Given the description of an element on the screen output the (x, y) to click on. 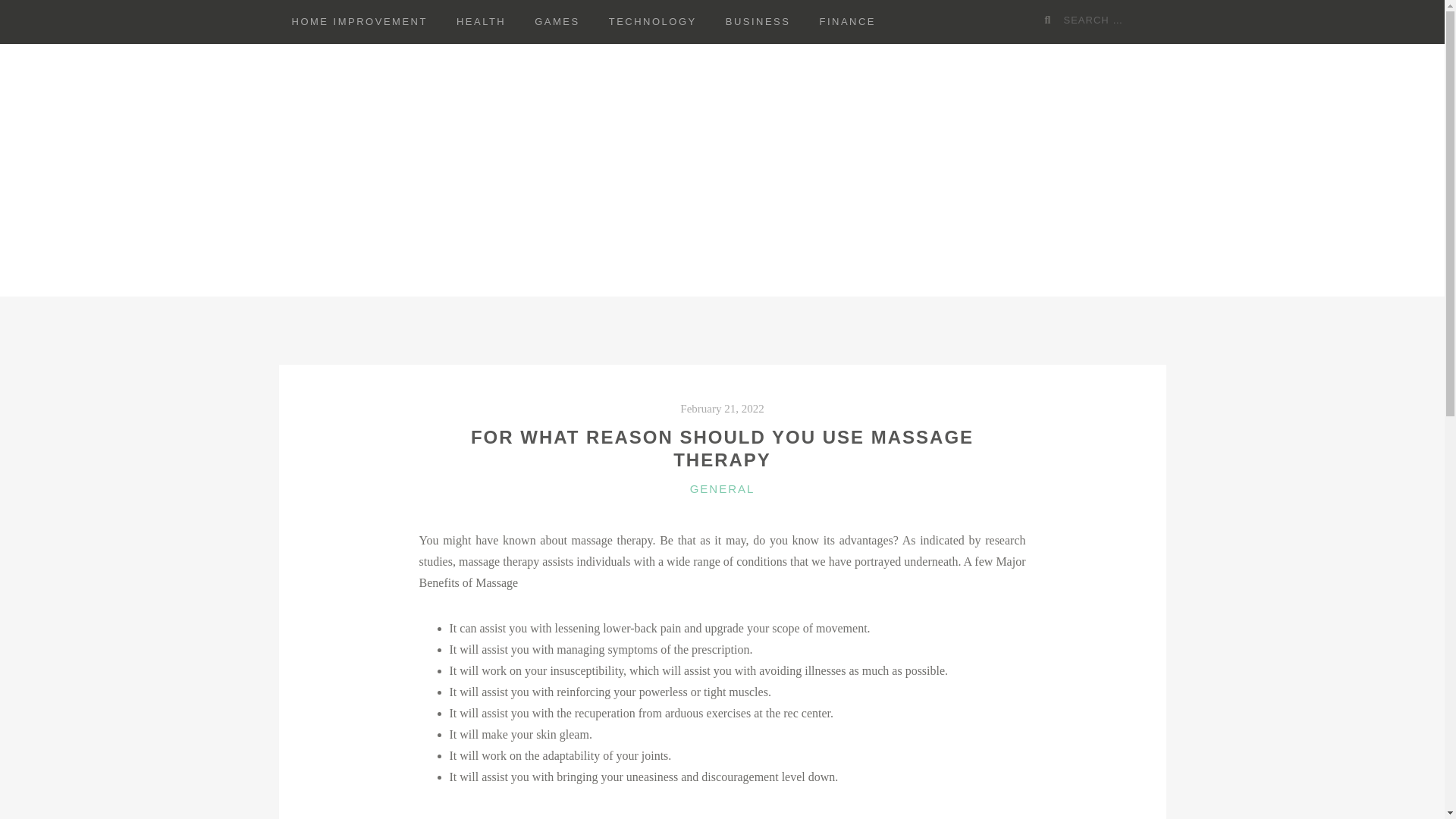
GENERAL (722, 488)
TECHNOLOGY (652, 21)
GAMES (556, 21)
HOME IMPROVEMENT (360, 21)
HEALTH (481, 21)
BUSINESS (758, 21)
FINANCE (847, 21)
February 21, 2022 (720, 408)
